Given the description of an element on the screen output the (x, y) to click on. 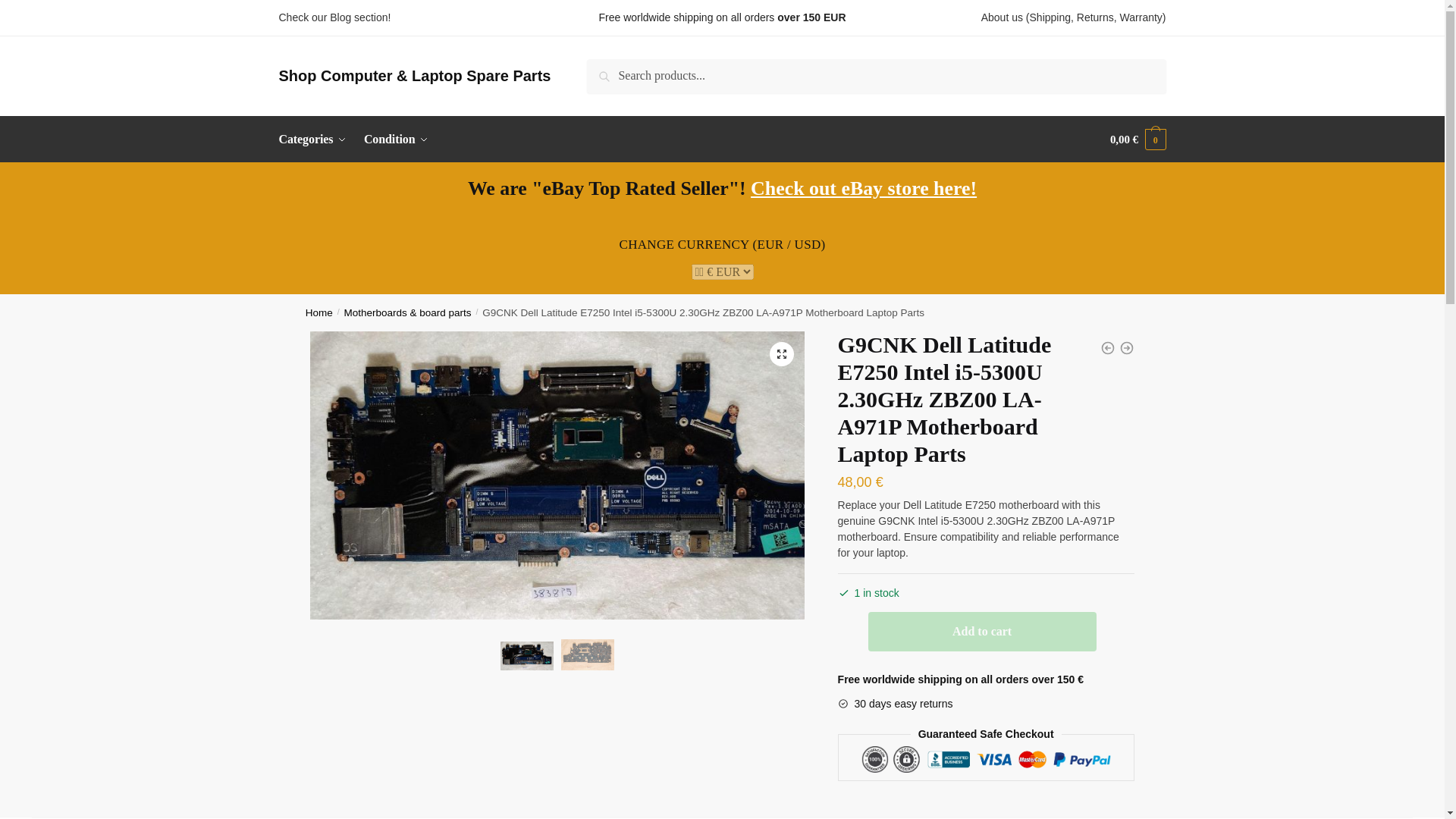
Search (607, 69)
Categories (316, 139)
View your shopping cart (1137, 139)
Check our Blog section! (335, 17)
